Given the description of an element on the screen output the (x, y) to click on. 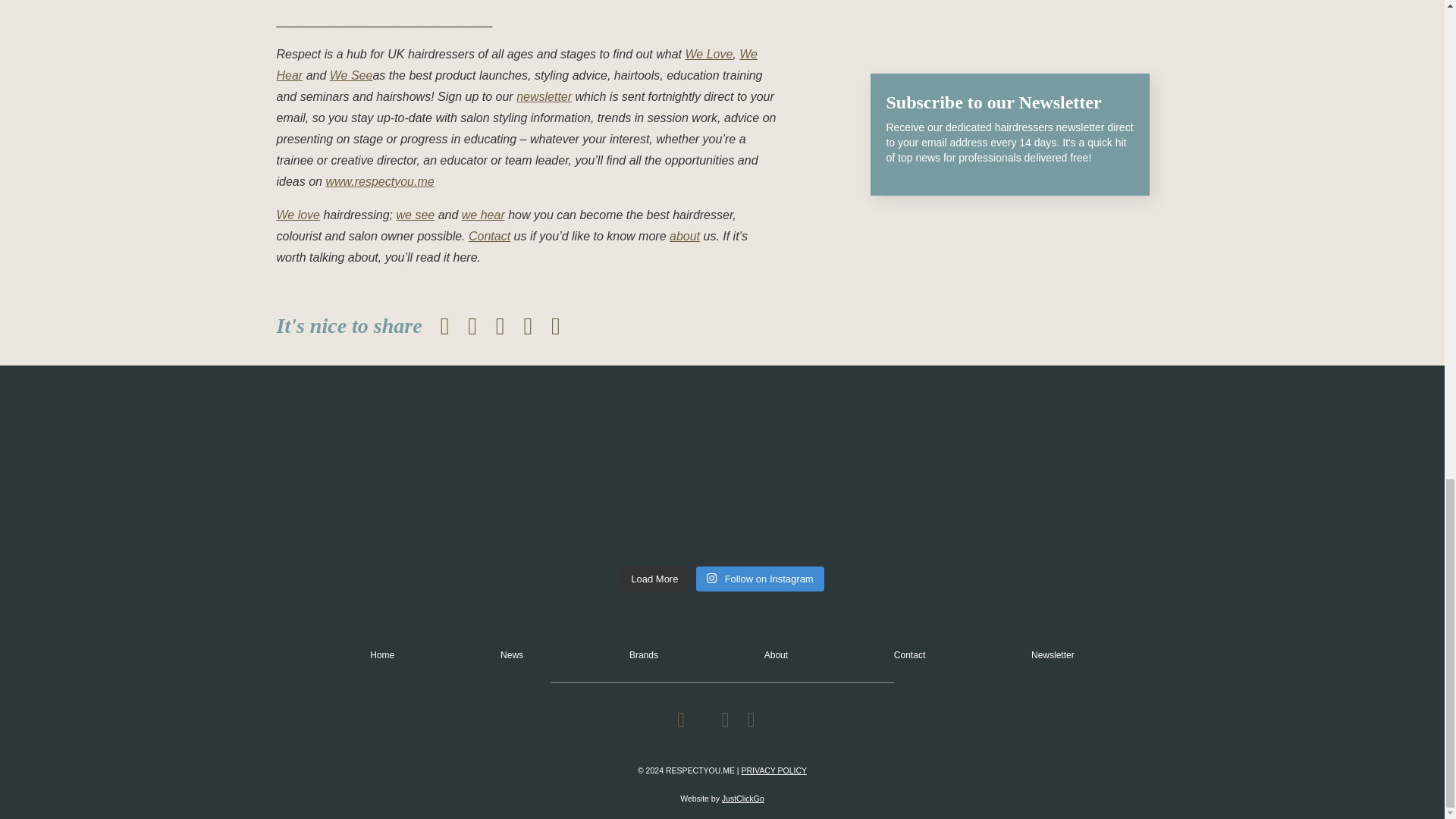
Brands (643, 655)
Contact (908, 655)
Newsletter (1052, 655)
